Given the description of an element on the screen output the (x, y) to click on. 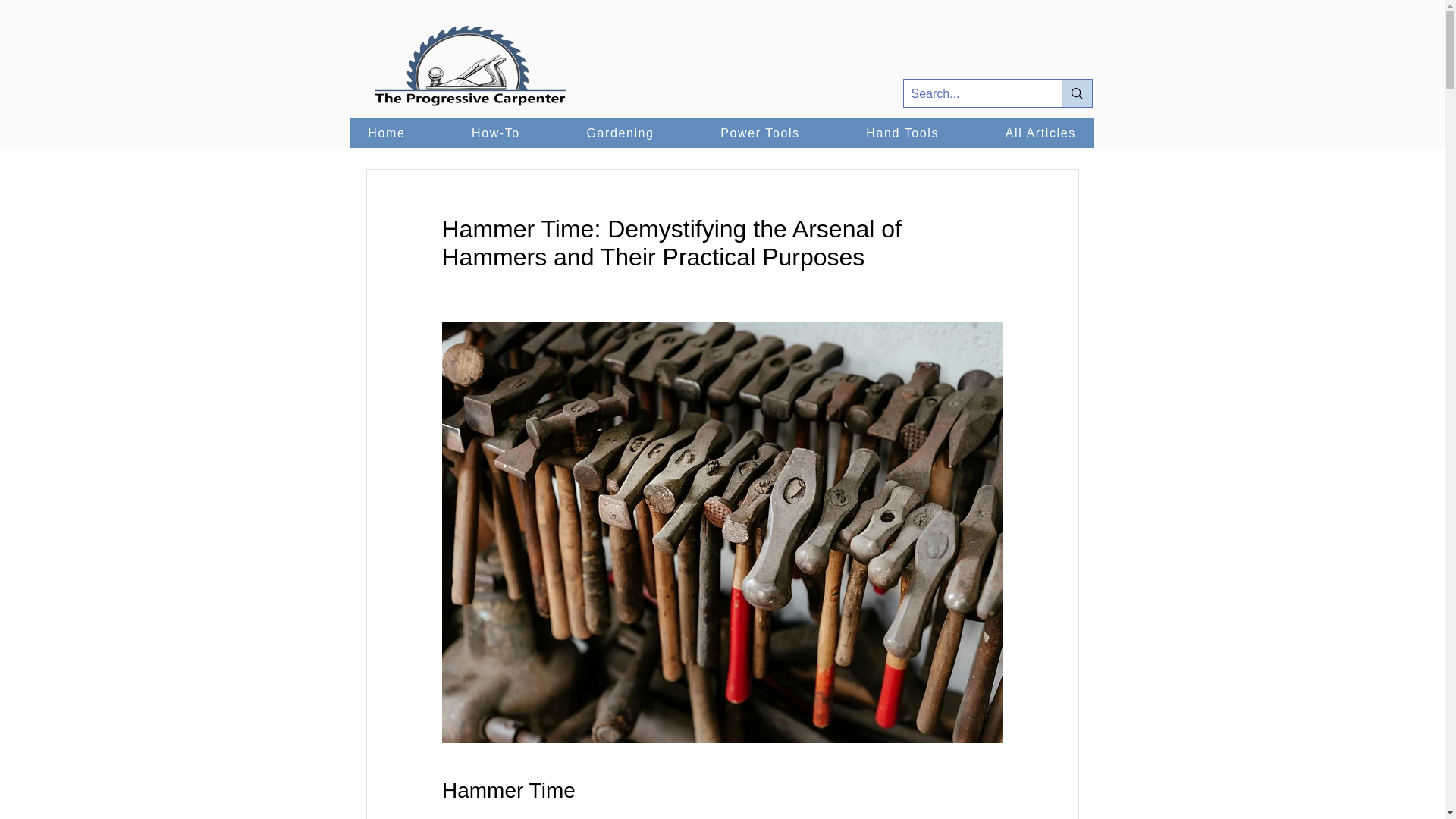
Hand Tools (902, 132)
Gardening (620, 132)
The Progressive Carpenter (470, 66)
All Articles (1040, 132)
Power Tools (758, 132)
Home (386, 132)
How-To (494, 132)
